Given the description of an element on the screen output the (x, y) to click on. 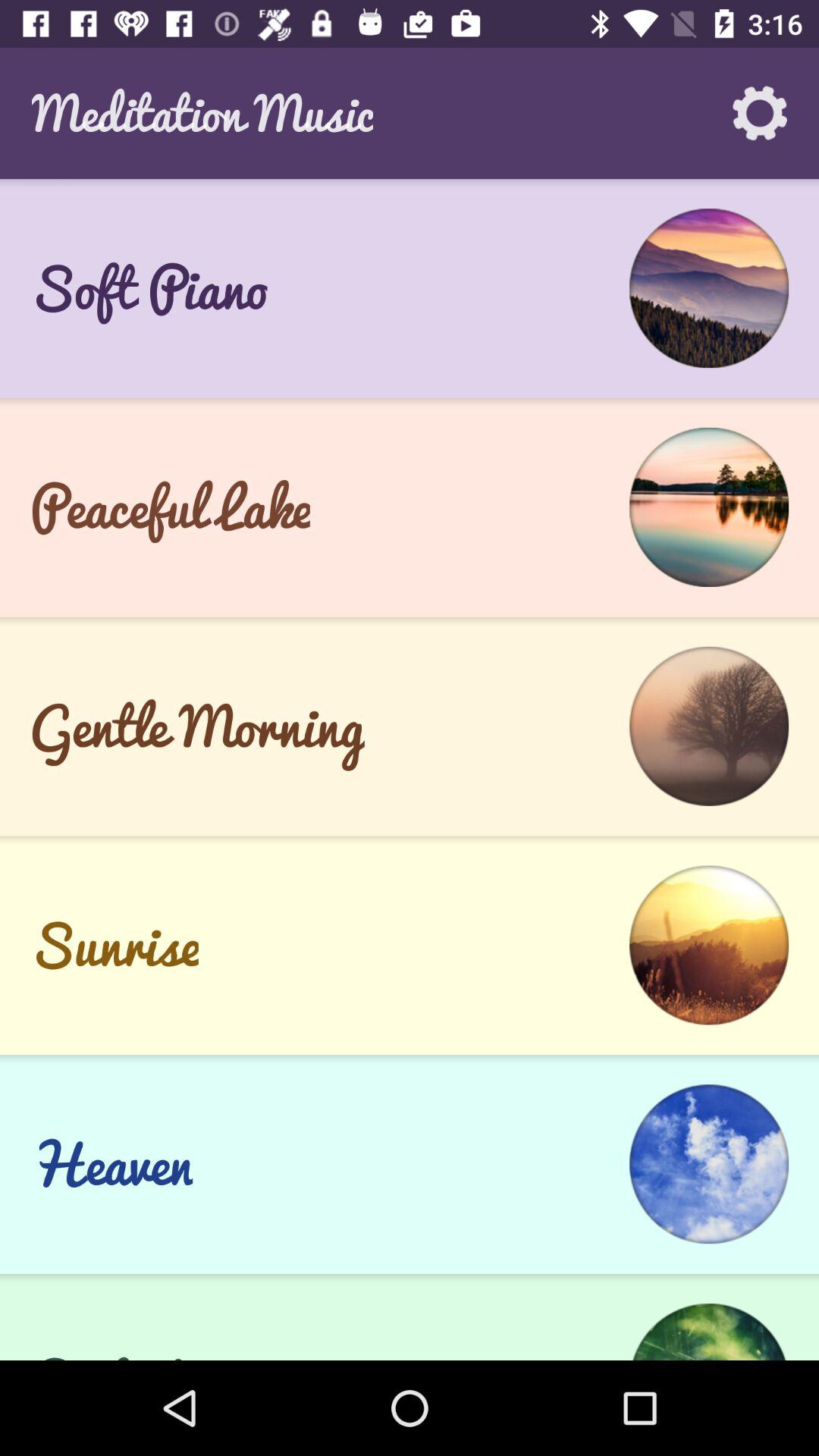
click gentle morning item (197, 726)
